Given the description of an element on the screen output the (x, y) to click on. 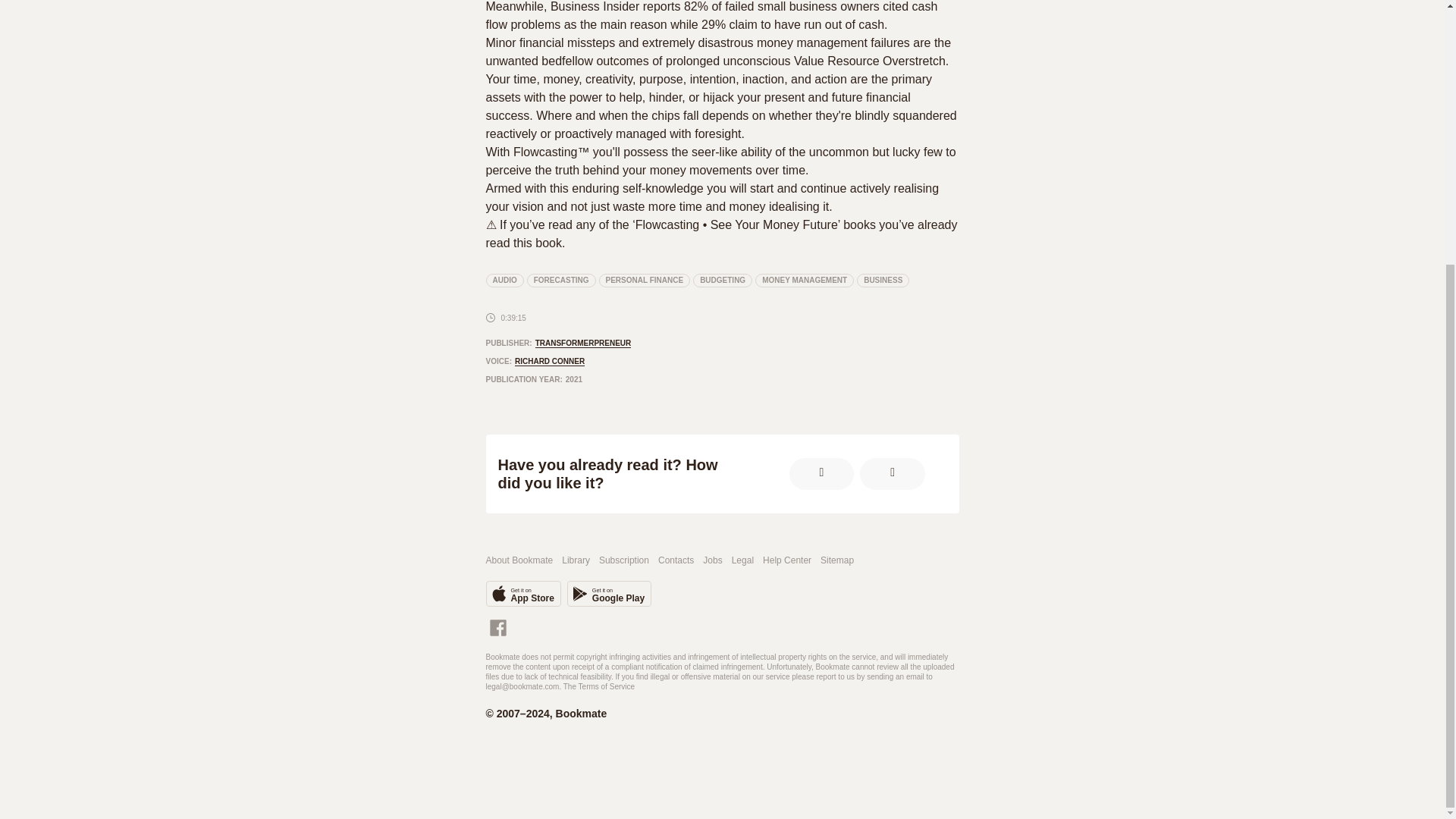
Help Center (786, 560)
Contacts (676, 560)
PERSONAL FINANCE (644, 280)
The Terms of Service (598, 686)
BUSINESS (882, 280)
Jobs (712, 560)
Legal (743, 560)
Sitemap (837, 560)
MONEY MANAGEMENT (804, 280)
TRANSFORMERPRENEUR (583, 343)
Library (575, 560)
FORECASTING (522, 593)
About Bookmate (608, 593)
